Given the description of an element on the screen output the (x, y) to click on. 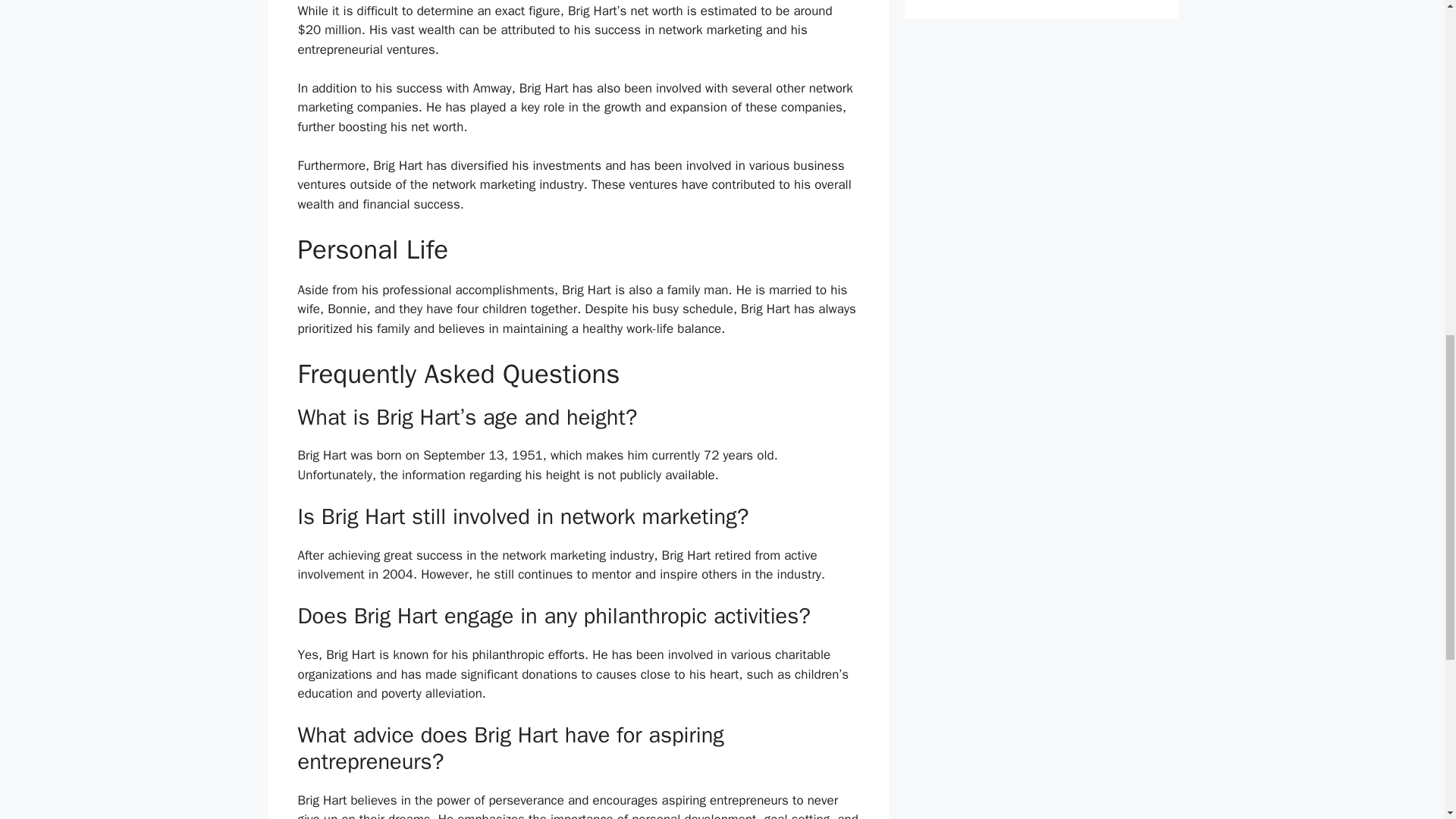
Scroll back to top (1406, 720)
